Given the description of an element on the screen output the (x, y) to click on. 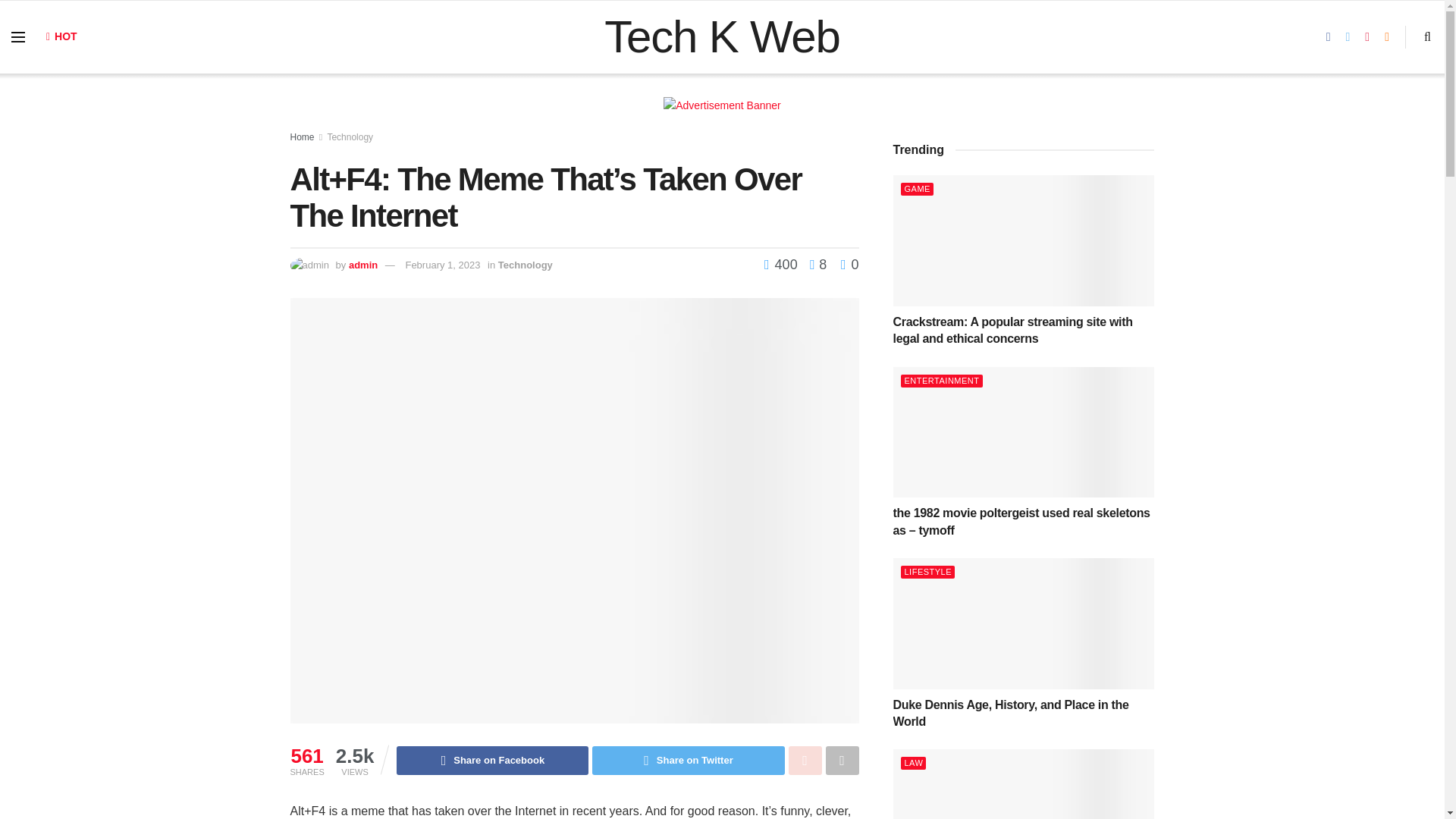
admin (363, 265)
HOT (61, 36)
Share on Twitter (688, 760)
February 1, 2023 (442, 265)
Tech K Web (722, 36)
GAME (917, 188)
Technology (525, 265)
0 (850, 264)
Technology (349, 136)
Home (301, 136)
Share on Facebook (492, 760)
400 (783, 264)
8 (814, 264)
